Given the description of an element on the screen output the (x, y) to click on. 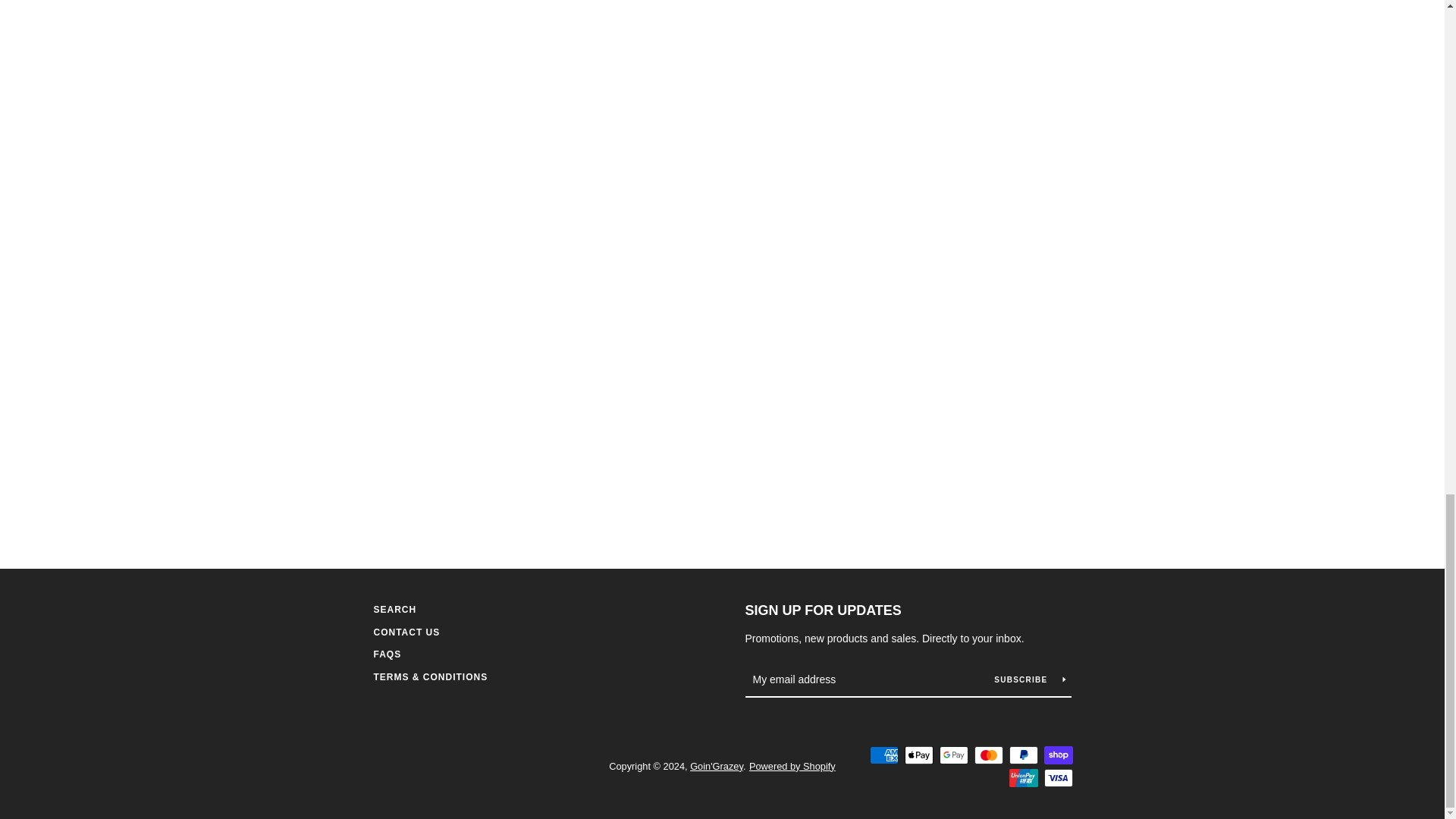
Mastercard (988, 755)
SUBSCRIBE (1029, 679)
PayPal (1022, 755)
Union Pay (1022, 778)
Goin'Grazey (716, 766)
CONTACT US (405, 632)
Google Pay (953, 755)
Apple Pay (918, 755)
FAQS (386, 654)
SEARCH (394, 609)
